Given the description of an element on the screen output the (x, y) to click on. 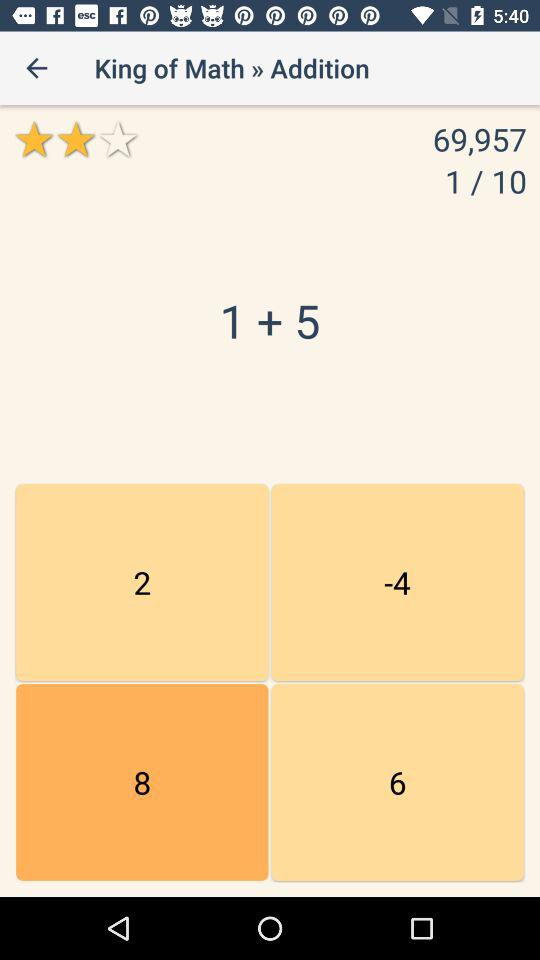
turn off the 25 icon (397, 582)
